Given the description of an element on the screen output the (x, y) to click on. 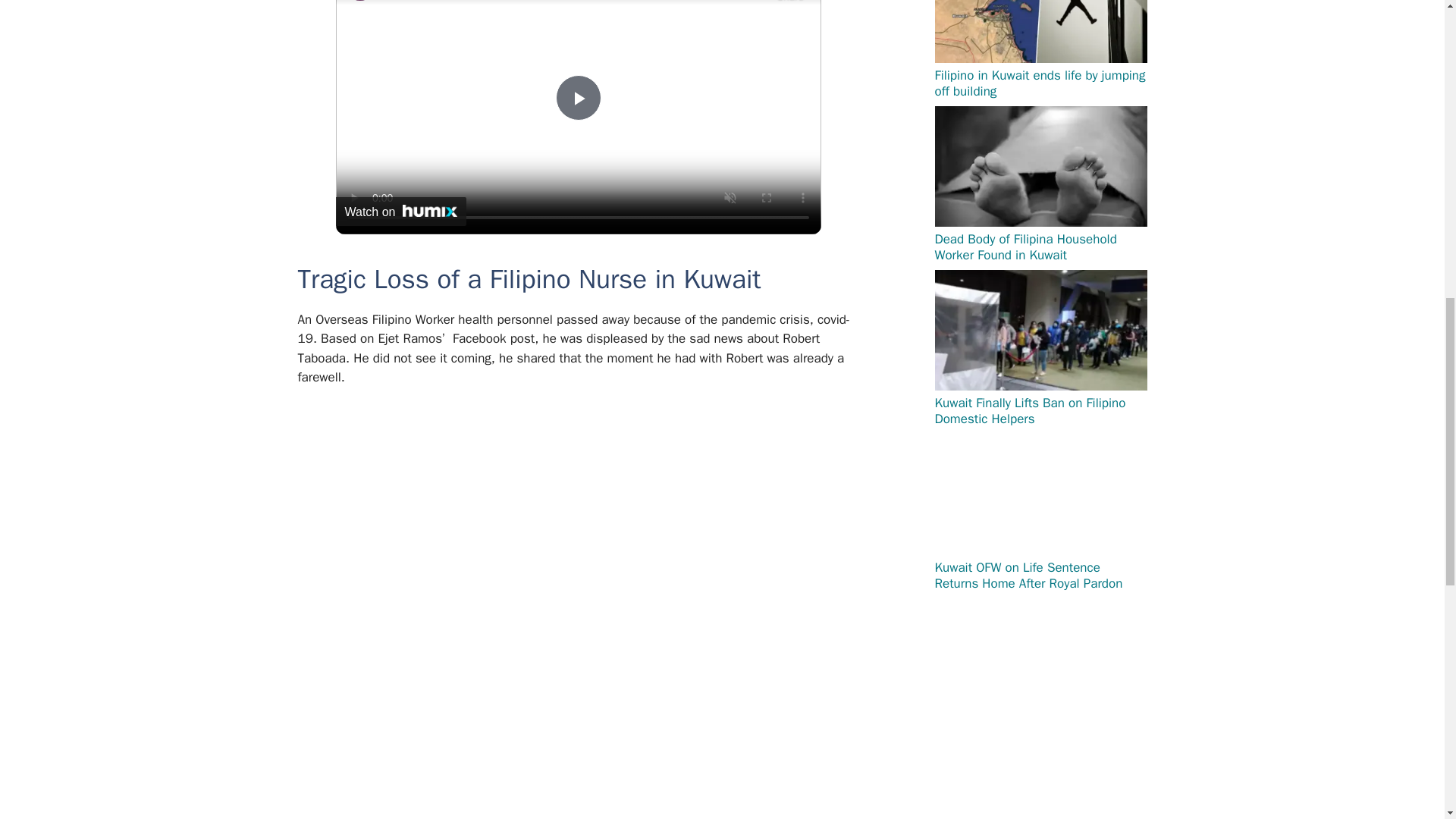
Play Video (576, 97)
Scroll back to top (1406, 720)
share (789, 2)
